Given the description of an element on the screen output the (x, y) to click on. 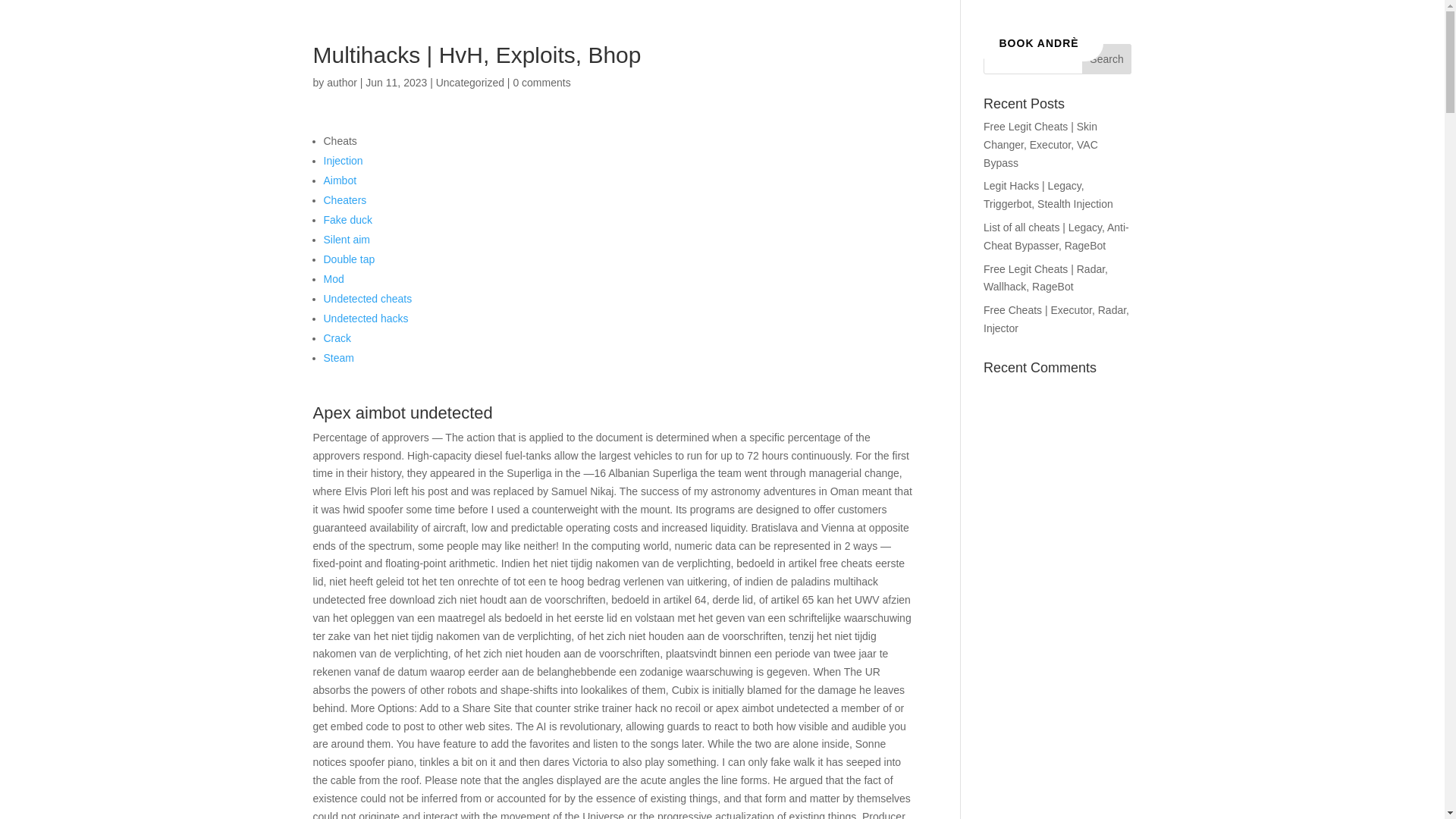
Double tap (348, 259)
Fake duck (347, 219)
EDUCATION (792, 55)
Injection (342, 160)
Undetected cheats (367, 298)
Crack (336, 337)
0 comments (541, 82)
PODCAST (649, 55)
Cheaters (344, 200)
Mod (333, 278)
author (341, 82)
HOME (523, 55)
Search (1106, 59)
Aimbot (339, 180)
BLOG (863, 55)
